Given the description of an element on the screen output the (x, y) to click on. 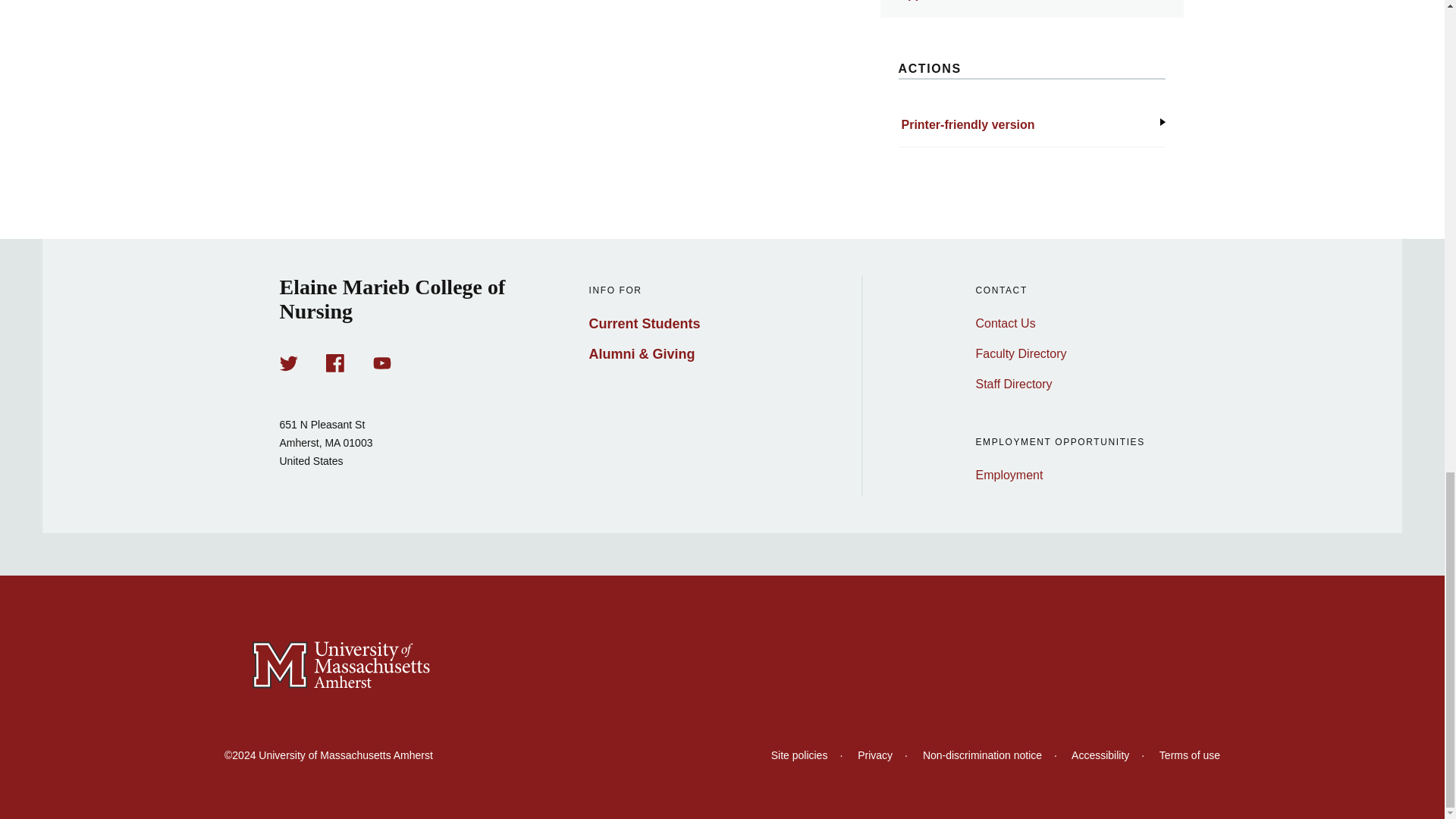
University of Massachusetts Amherst (722, 666)
Find us on Twitter (288, 362)
Find us on YouTube (381, 362)
Find us on Facebook (334, 362)
